Given the description of an element on the screen output the (x, y) to click on. 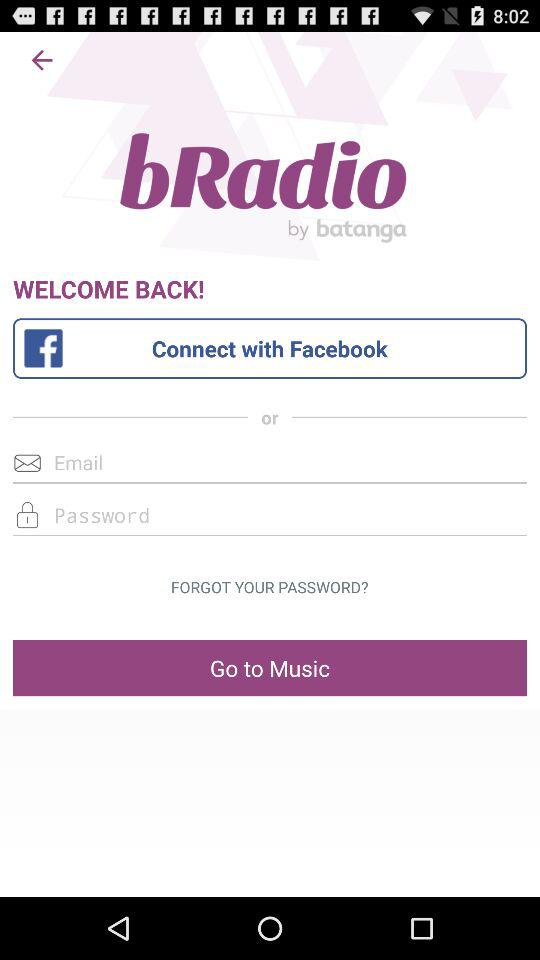
turn on go to music item (269, 667)
